Given the description of an element on the screen output the (x, y) to click on. 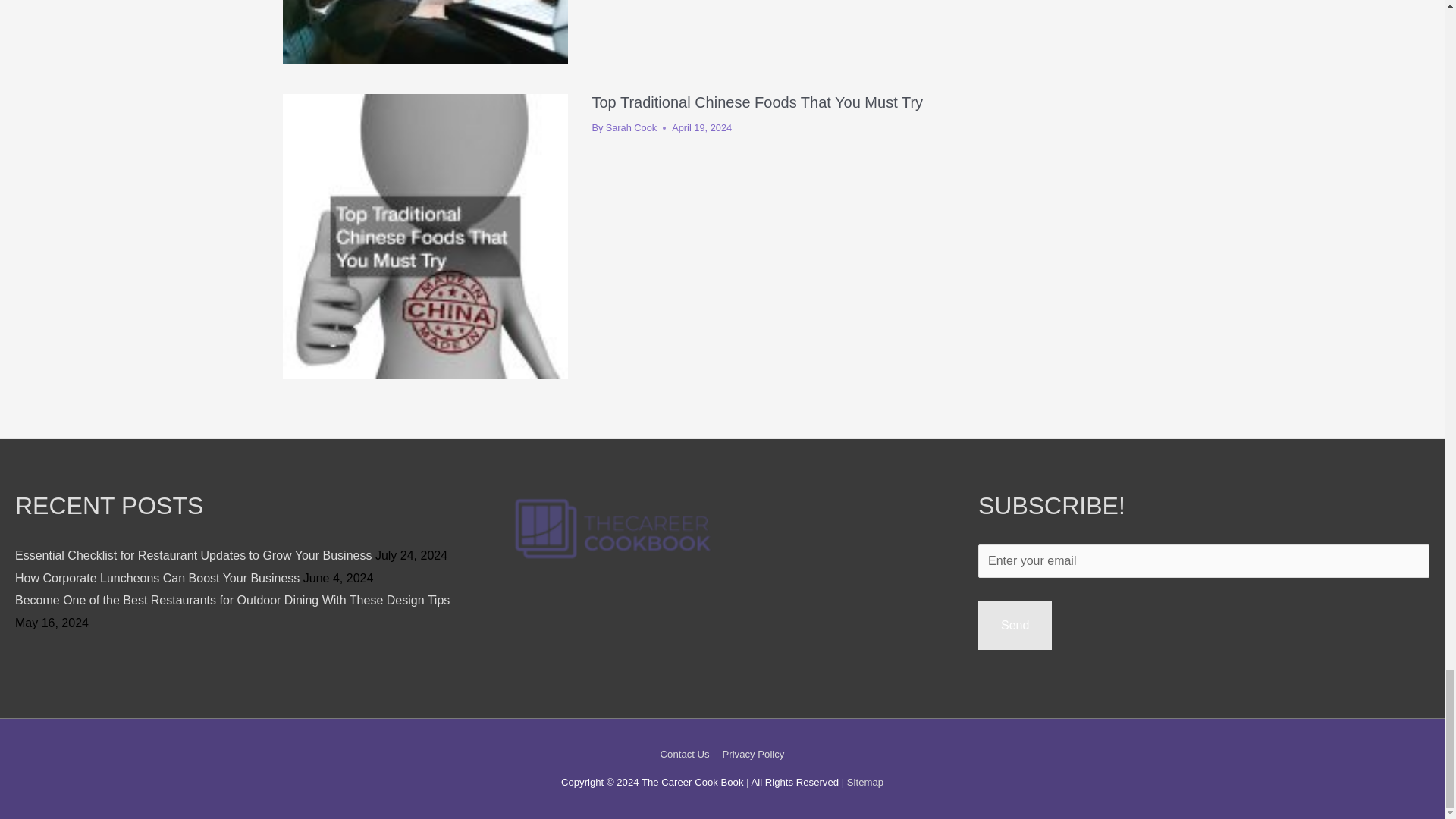
Top Traditional Chinese Foods That You Must Try (757, 102)
Enter your email (1203, 561)
How Corporate Luncheons Can Boost Your Business (156, 577)
Send (1014, 625)
